Given the description of an element on the screen output the (x, y) to click on. 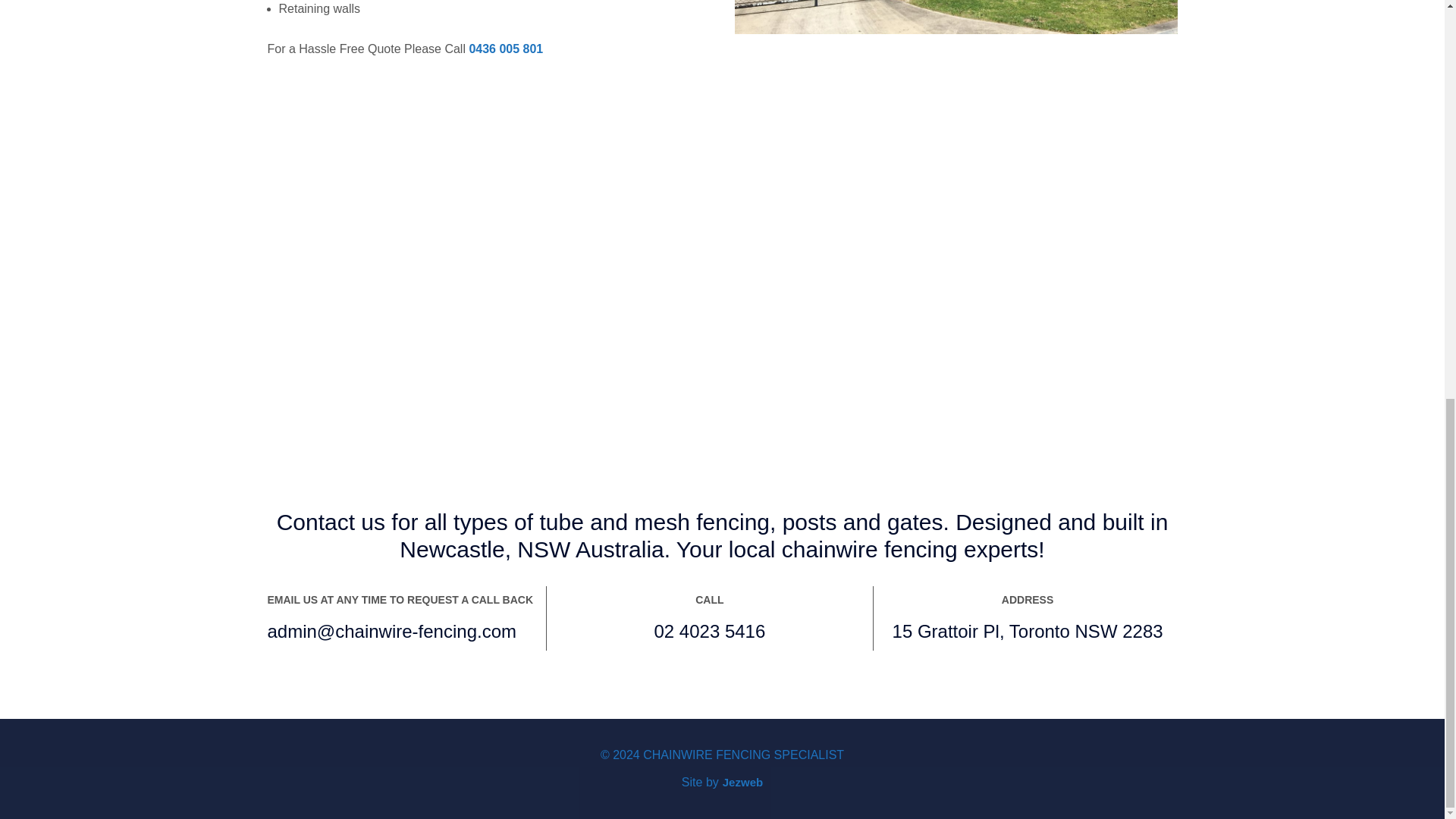
Warners Bay Fencing - (954, 17)
0436 005 801 (505, 48)
